Given the description of an element on the screen output the (x, y) to click on. 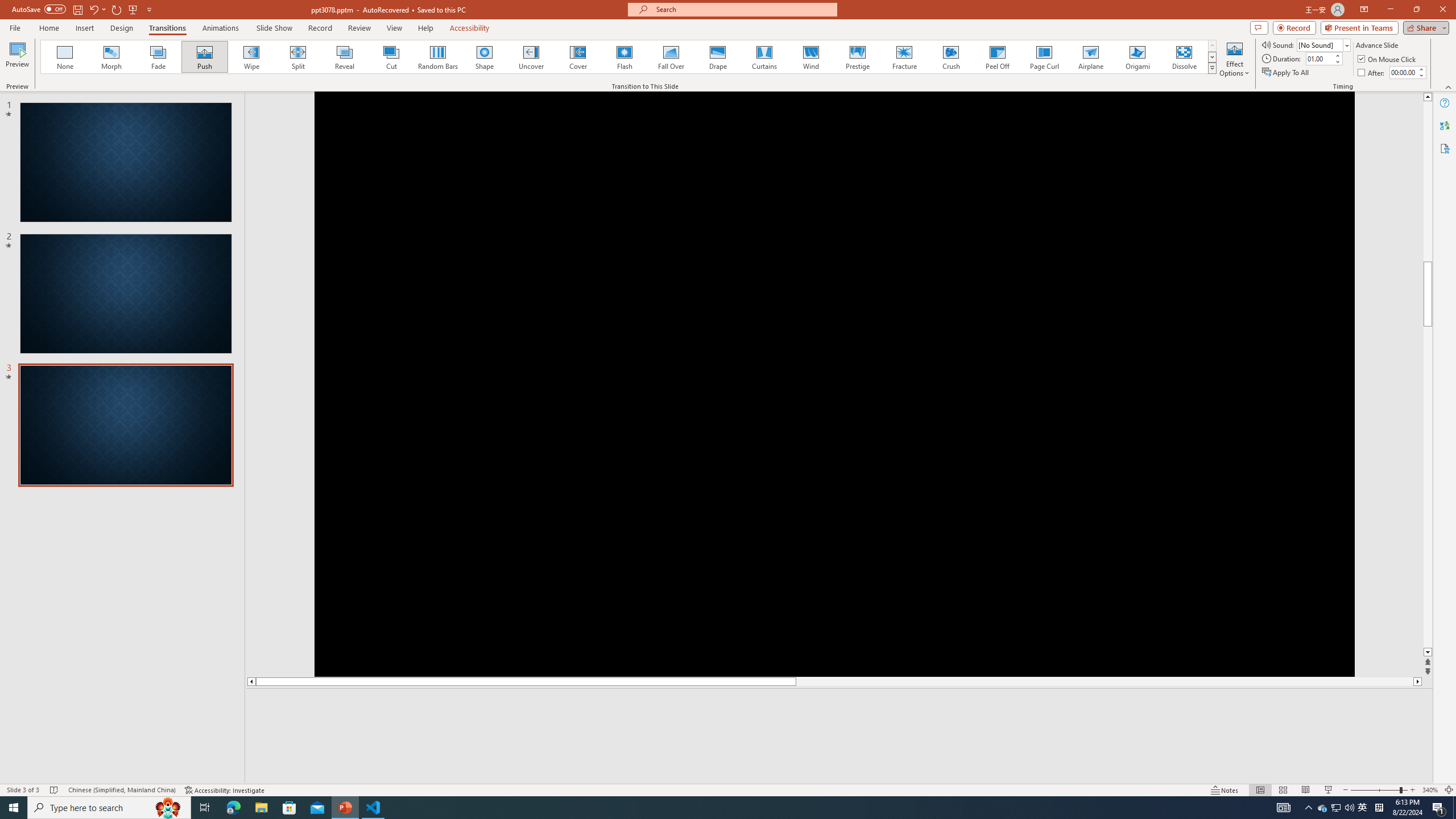
Less (1420, 75)
Translator (1444, 125)
Fade (158, 56)
AutomationID: AnimationTransitionGallery (628, 56)
Flash (624, 56)
Slide Notes (839, 705)
Uncover (531, 56)
